Given the description of an element on the screen output the (x, y) to click on. 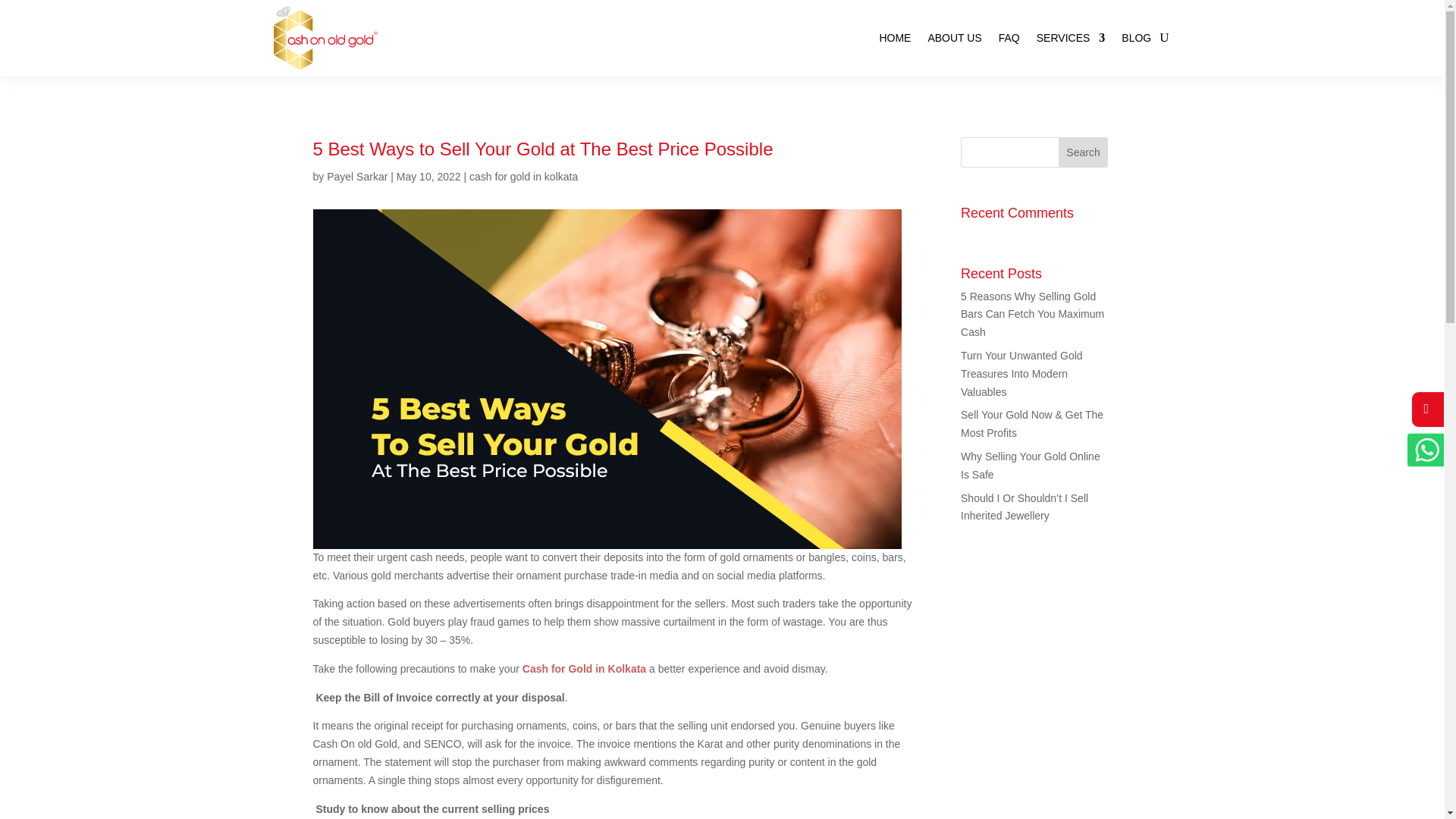
5-Best-Ways-To-Sell-Your-Gold-At-The-Best-Price-Possible (372, 215)
Payel Sarkar (356, 176)
SERVICES (1070, 38)
5 Reasons Why Selling Gold Bars Can Fetch You Maximum Cash (1031, 314)
Search (1083, 152)
Search (1083, 152)
Why Selling Your Gold Online Is Safe (1030, 465)
Posts by Payel Sarkar (356, 176)
Cash for Gold in Kolkata (584, 340)
Turn Your Unwanted Gold Treasures Into Modern Valuables (1021, 373)
